Given the description of an element on the screen output the (x, y) to click on. 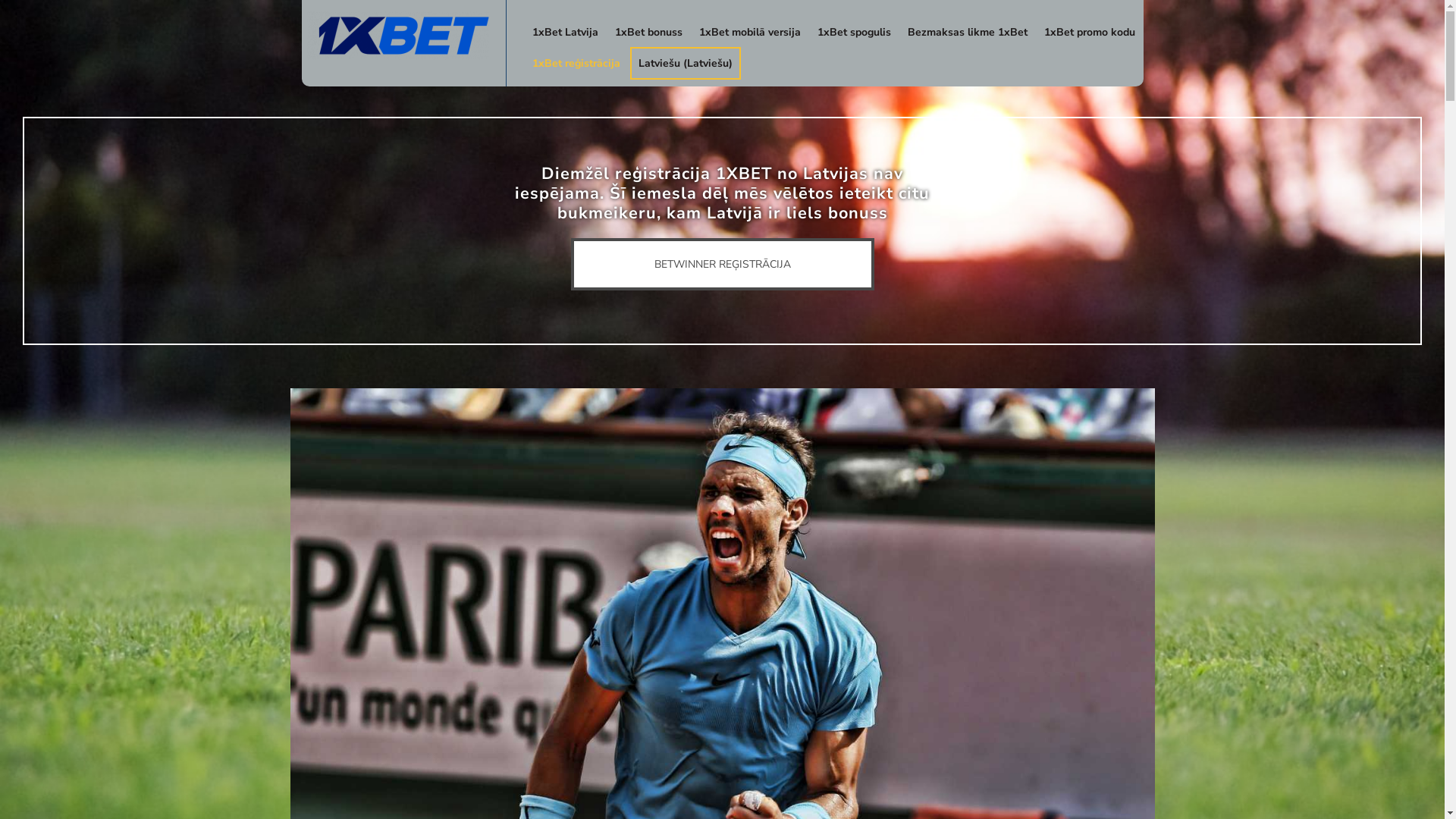
1xBet promo kodu Element type: text (1089, 32)
Bezmaksas likme 1xBet Element type: text (967, 32)
1xBet bonuss Element type: text (648, 32)
1xBet spogulis Element type: text (853, 32)
1xBet Latvija Element type: text (564, 32)
